Given the description of an element on the screen output the (x, y) to click on. 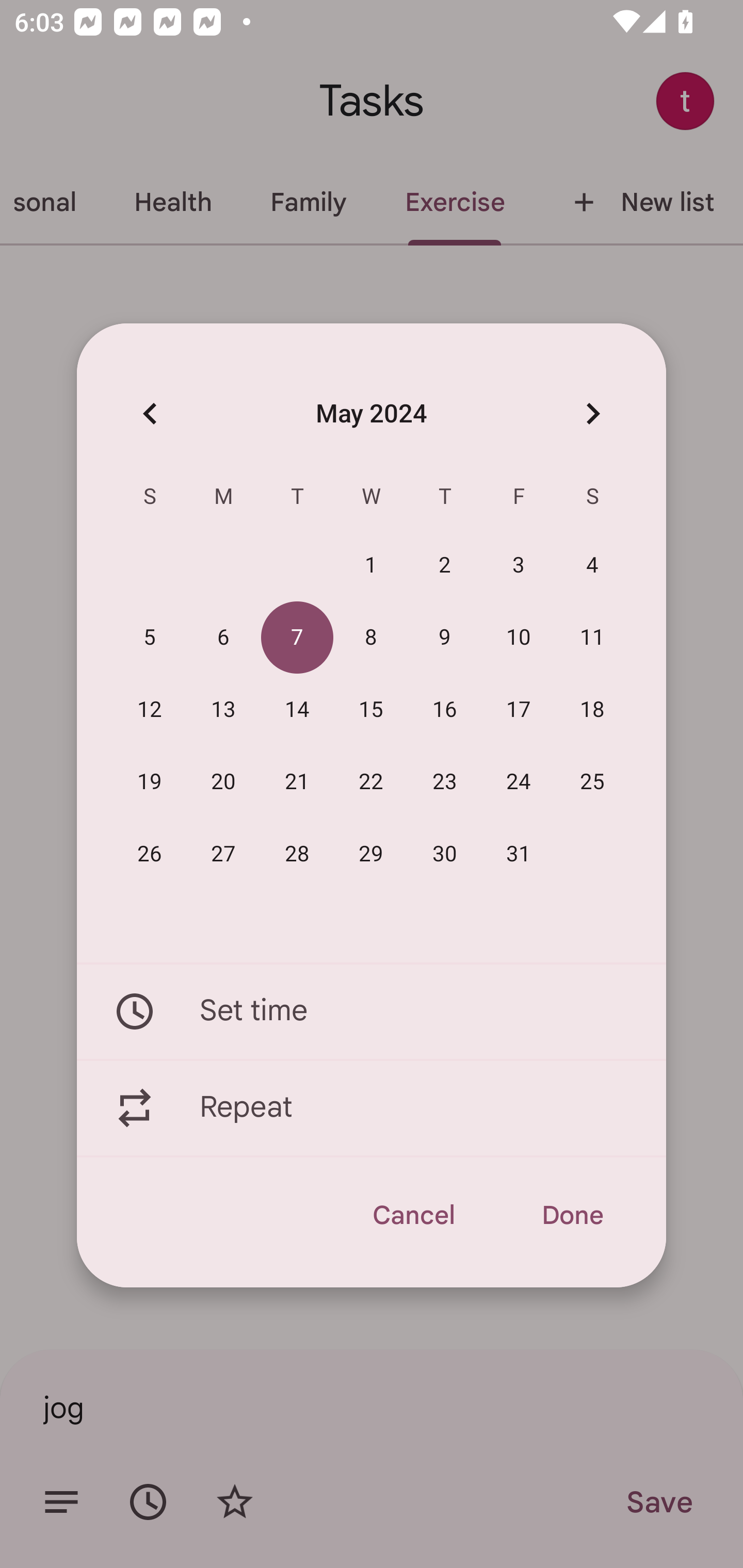
Previous month (149, 413)
Next month (592, 413)
1 01 May 2024 (370, 565)
2 02 May 2024 (444, 565)
3 03 May 2024 (518, 565)
4 04 May 2024 (592, 565)
5 05 May 2024 (149, 638)
6 06 May 2024 (223, 638)
7 07 May 2024 (297, 638)
8 08 May 2024 (370, 638)
9 09 May 2024 (444, 638)
10 10 May 2024 (518, 638)
11 11 May 2024 (592, 638)
12 12 May 2024 (149, 710)
13 13 May 2024 (223, 710)
14 14 May 2024 (297, 710)
15 15 May 2024 (370, 710)
16 16 May 2024 (444, 710)
17 17 May 2024 (518, 710)
18 18 May 2024 (592, 710)
19 19 May 2024 (149, 782)
20 20 May 2024 (223, 782)
21 21 May 2024 (297, 782)
22 22 May 2024 (370, 782)
23 23 May 2024 (444, 782)
24 24 May 2024 (518, 782)
25 25 May 2024 (592, 782)
26 26 May 2024 (149, 854)
27 27 May 2024 (223, 854)
28 28 May 2024 (297, 854)
29 29 May 2024 (370, 854)
30 30 May 2024 (444, 854)
31 31 May 2024 (518, 854)
Set time (371, 1011)
Repeat (371, 1108)
Cancel (412, 1215)
Done (571, 1215)
